Given the description of an element on the screen output the (x, y) to click on. 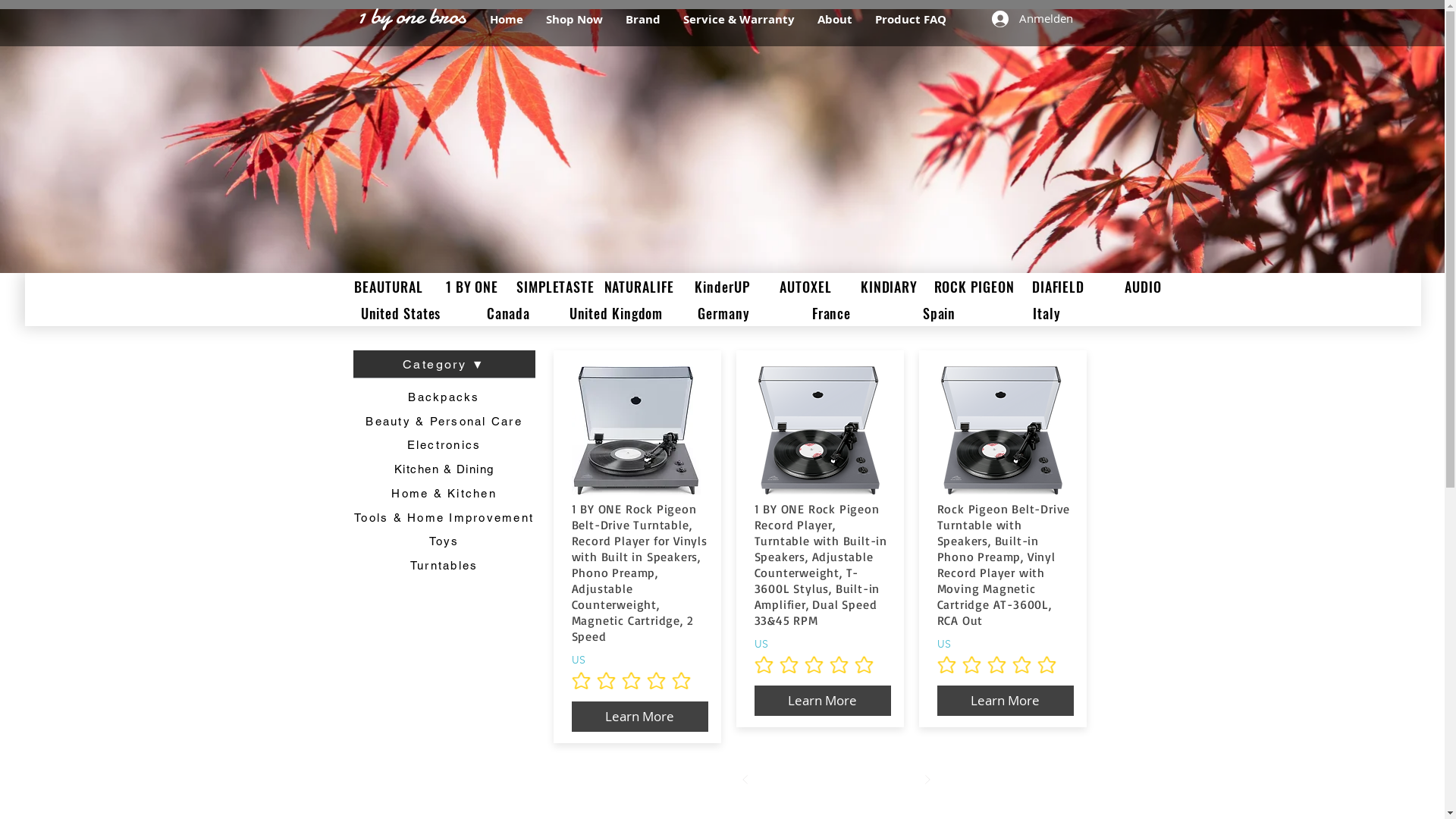
France Element type: text (831, 312)
2.png Element type: hover (1001, 430)
ROCK PIGEON Element type: text (974, 286)
Learn More Element type: text (821, 700)
1 by one bros Element type: text (411, 15)
Canada Element type: text (508, 312)
Learn More Element type: text (1005, 700)
KinderUP Element type: text (722, 286)
Product FAQ Element type: text (909, 19)
Learn More Element type: text (639, 716)
Service & Warranty Element type: text (738, 19)
1.jpg Element type: hover (635, 430)
About Element type: text (833, 19)
BEAUTURAL Element type: text (388, 286)
United States Element type: text (401, 312)
Beauty & Personal Care Element type: text (444, 420)
United Kingdom Element type: text (616, 312)
1 BY ONE Element type: text (472, 286)
2-1-1.png Element type: hover (817, 430)
Shop Now Element type: text (573, 19)
KINDIARY Element type: text (889, 286)
Electronics Element type: text (444, 444)
Brand Element type: text (642, 19)
SIMPLETASTE Element type: text (555, 286)
Tools & Home Improvement Element type: text (444, 517)
Home Element type: text (505, 19)
AUTOXEL Element type: text (805, 286)
DIAFIELD Element type: text (1057, 286)
Turntables Element type: text (444, 564)
Backpacks Element type: text (444, 396)
Kitchen & Dining Element type: text (444, 468)
NATURALIFE Element type: text (638, 286)
AUDIO Element type: text (1142, 286)
Toys Element type: text (444, 540)
Italy Element type: text (1047, 312)
Home & Kitchen Element type: text (444, 492)
Germany Element type: text (724, 312)
Spain Element type: text (939, 312)
Anmelden Element type: text (1026, 18)
